Given the description of an element on the screen output the (x, y) to click on. 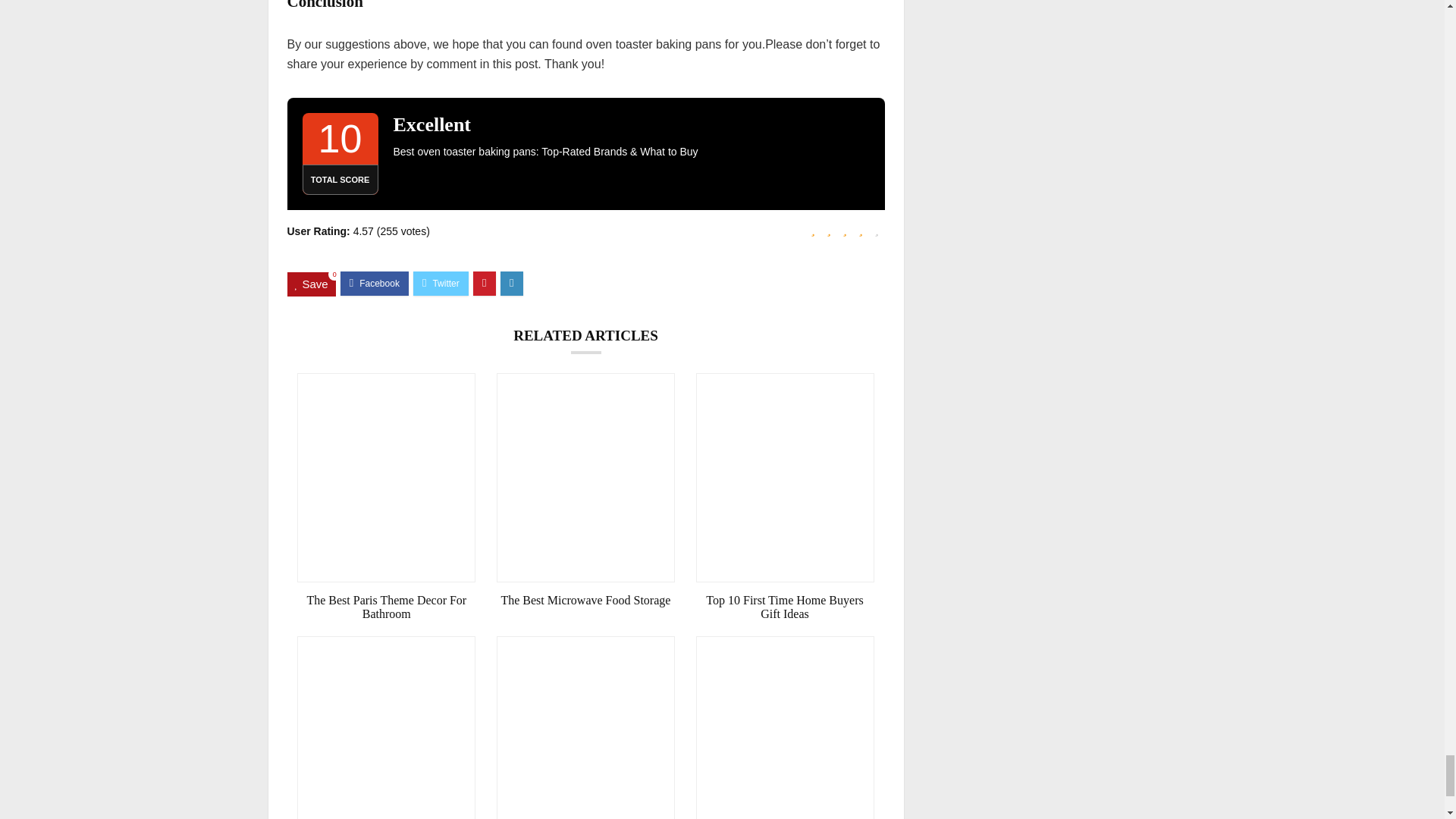
The Best Paris Theme Decor For Bathroom (386, 606)
The Best Microwave Food Storage (585, 600)
Top 10 First Time Home Buyers Gift Ideas (785, 606)
